Given the description of an element on the screen output the (x, y) to click on. 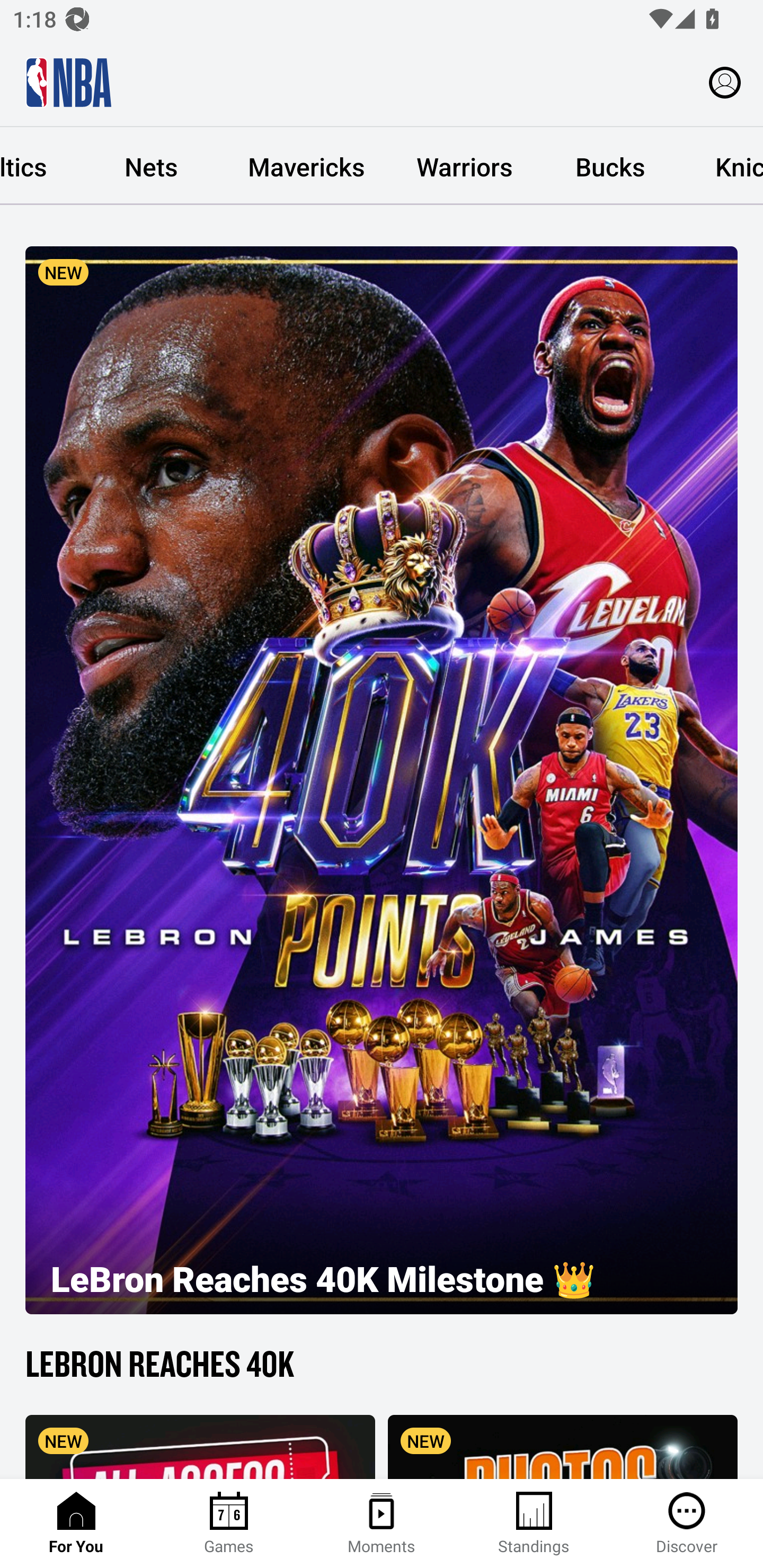
Profile (724, 81)
Nets (150, 166)
Mavericks (306, 166)
Warriors (464, 166)
Bucks (610, 166)
NEW LeBron Reaches 40K Milestone 👑 (381, 779)
LEBRON REACHES 40K NEW NEW (381, 1408)
Games (228, 1523)
Moments (381, 1523)
Standings (533, 1523)
Discover (686, 1523)
